Given the description of an element on the screen output the (x, y) to click on. 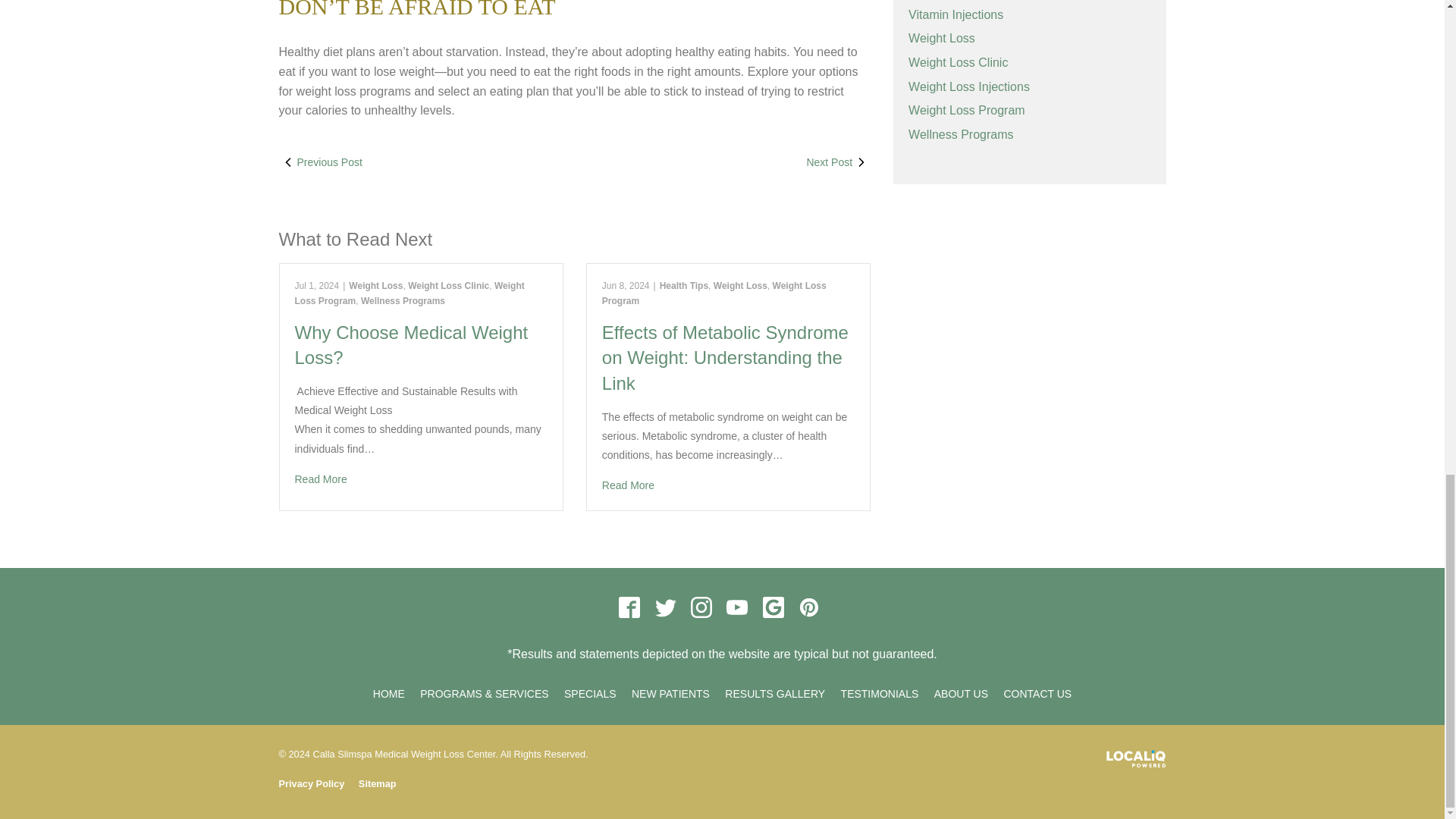
youtube (737, 606)
twitter (665, 606)
pinterest (809, 606)
instagram (701, 606)
google (773, 606)
Why Choose Medical Weight Loss? (420, 479)
facebook (629, 606)
